Given the description of an element on the screen output the (x, y) to click on. 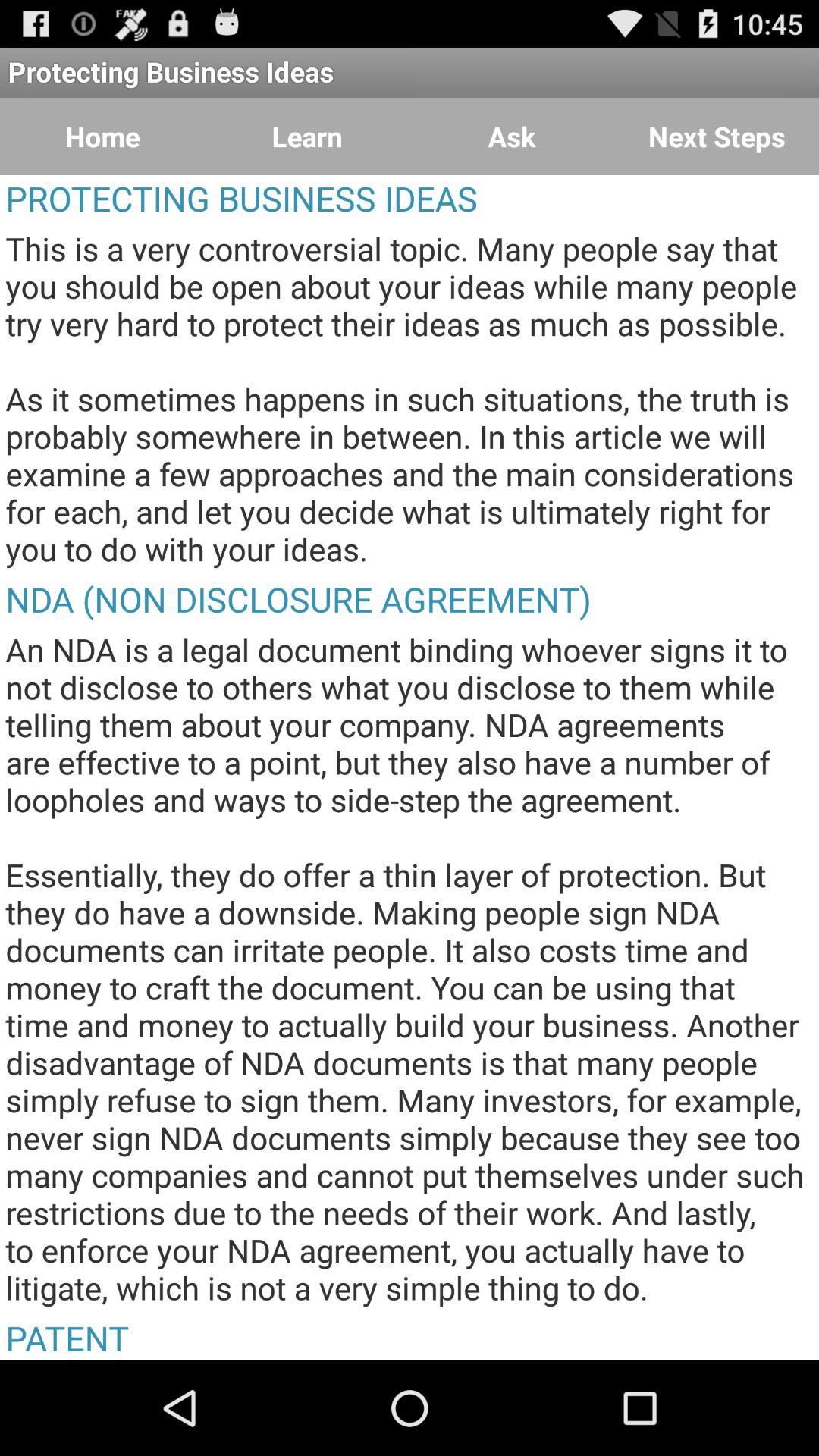
open item above the protecting business ideas icon (102, 136)
